Given the description of an element on the screen output the (x, y) to click on. 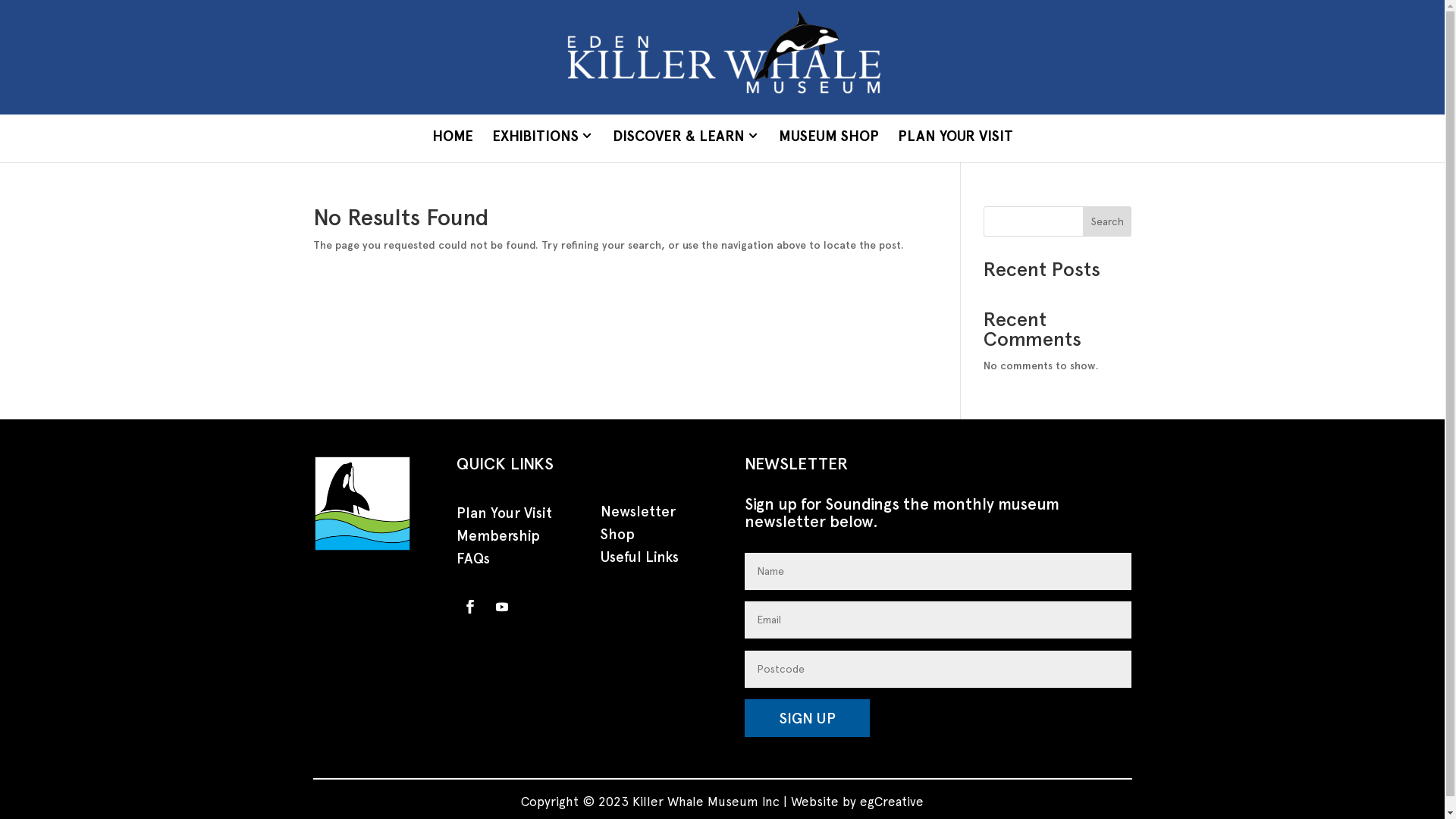
Plan Your Visit Element type: text (504, 516)
DISCOVER & LEARN Element type: text (685, 138)
EXHIBITIONS Element type: text (542, 138)
egCreative Element type: text (891, 801)
ekwm-footer-logo Element type: hover (361, 503)
Membership Element type: text (497, 538)
SIGN UP Element type: text (806, 718)
Search Element type: text (1107, 221)
Follow on Youtube Element type: hover (501, 606)
Useful Links Element type: text (639, 560)
HOME Element type: text (452, 138)
Newsletter Element type: text (637, 514)
PLAN YOUR VISIT Element type: text (955, 138)
Shop Element type: text (617, 537)
Follow on Facebook Element type: hover (469, 606)
MUSEUM SHOP Element type: text (828, 138)
FAQs Element type: text (472, 561)
Only numbers allowed. Element type: hover (937, 668)
